Given the description of an element on the screen output the (x, y) to click on. 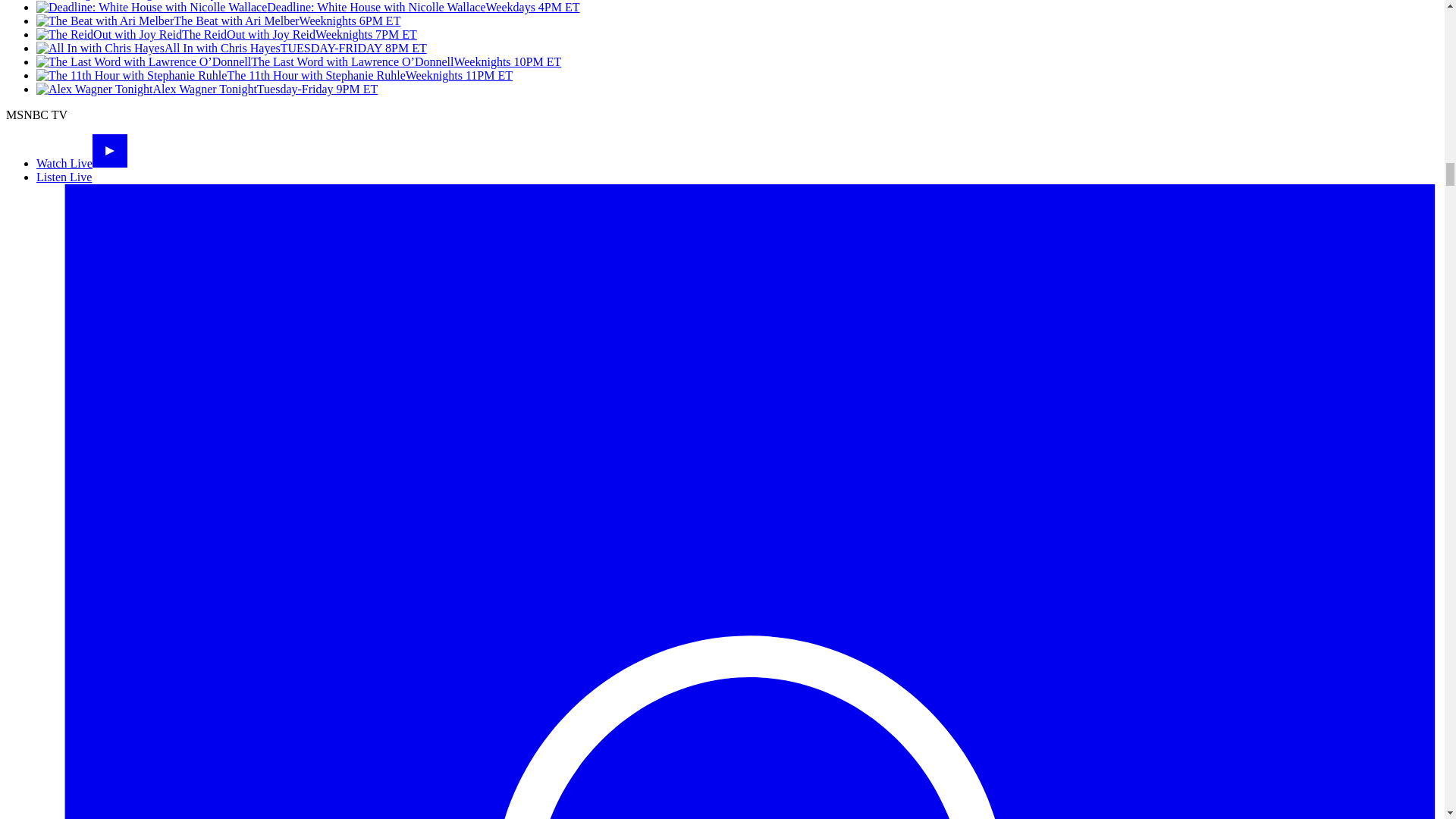
Alex Wagner TonightTuesday-Friday 9PM ET (206, 88)
The Beat with Ari MelberWeeknights 6PM ET (218, 20)
The 11th Hour with Stephanie RuhleWeeknights 11PM ET (274, 74)
Watch Live (82, 163)
The ReidOut with Joy ReidWeeknights 7PM ET (226, 33)
Deadline: White House with Nicolle WallaceWeekdays 4PM ET (307, 6)
All In with Chris HayesTUESDAY-FRIDAY 8PM ET (231, 47)
